Given the description of an element on the screen output the (x, y) to click on. 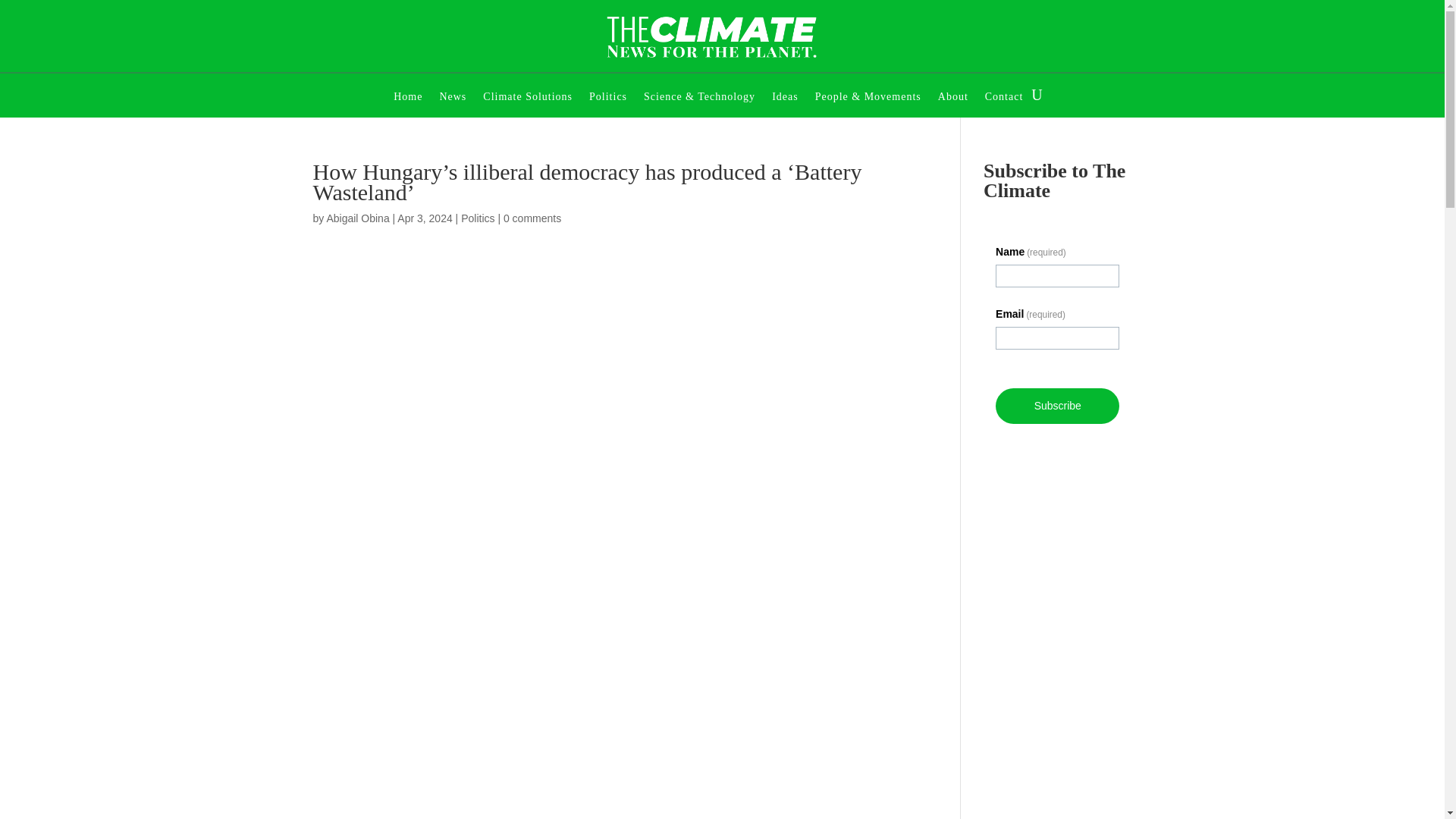
0 comments (531, 218)
Politics (478, 218)
Ideas (784, 97)
Politics (608, 97)
Home (407, 97)
Contact (1004, 97)
News (452, 97)
Posts by Abigail Obina (357, 218)
Climate Solutions (527, 97)
Abigail Obina (357, 218)
About (952, 97)
